Given the description of an element on the screen output the (x, y) to click on. 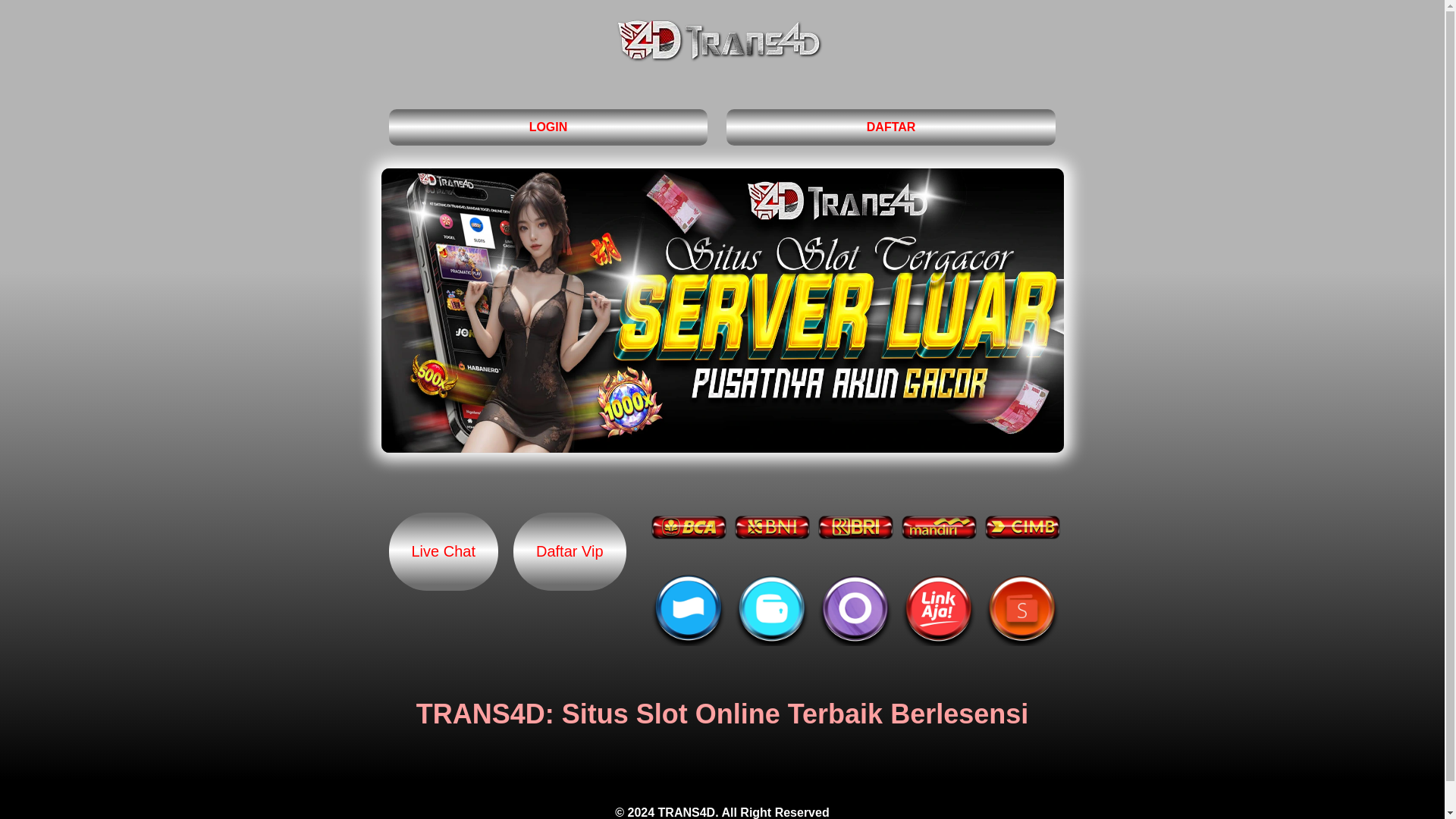
Daftar Vip (569, 551)
DAFTAR (891, 126)
LOGIN (547, 126)
Live Chat (442, 551)
